Given the description of an element on the screen output the (x, y) to click on. 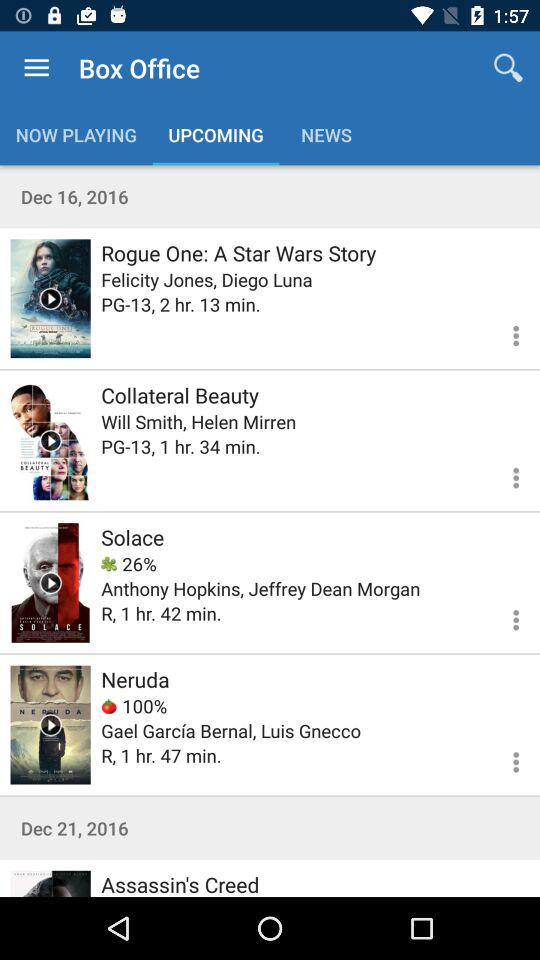
information view option (503, 332)
